Given the description of an element on the screen output the (x, y) to click on. 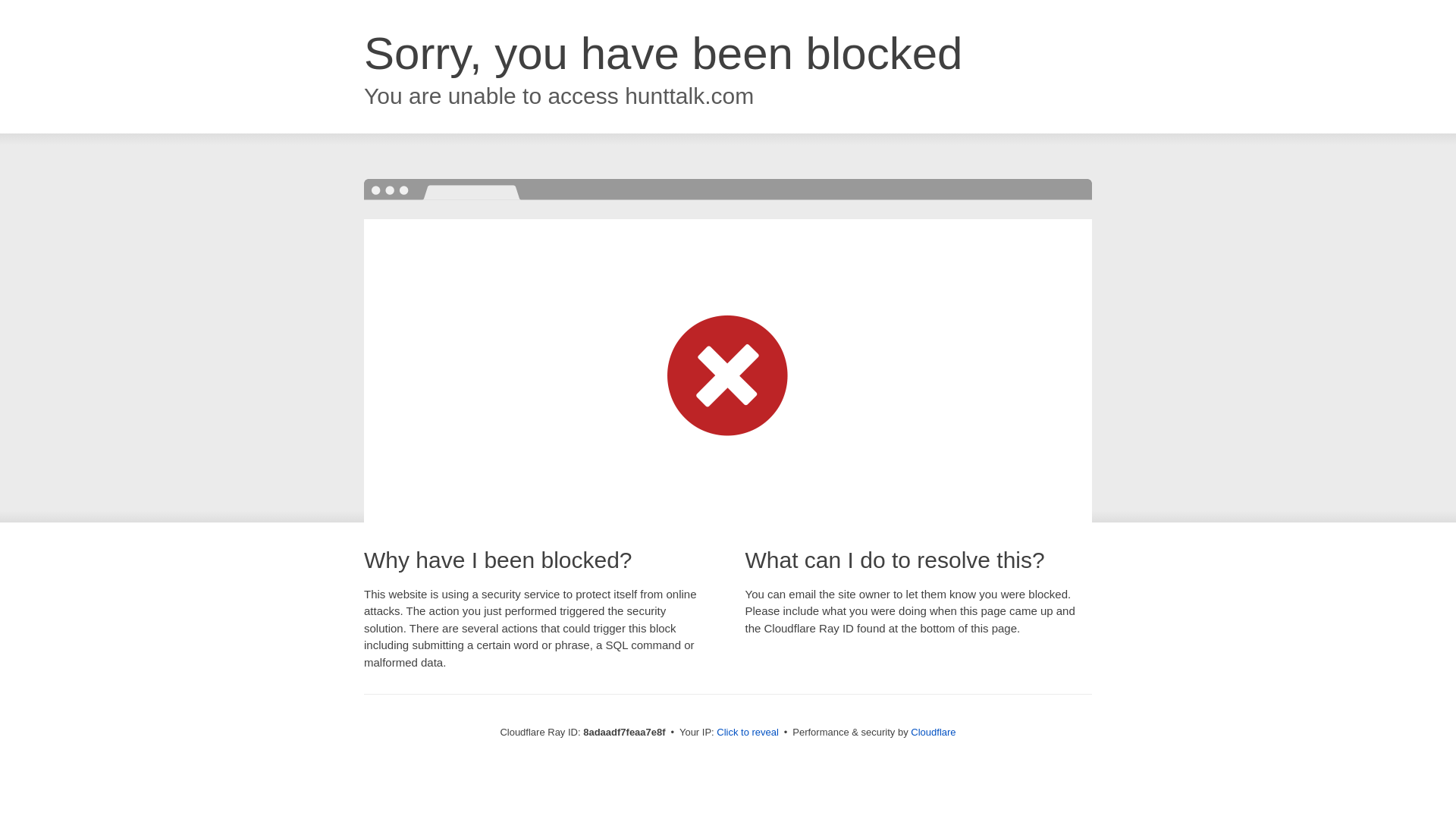
Cloudflare (933, 731)
Click to reveal (747, 732)
